Given the description of an element on the screen output the (x, y) to click on. 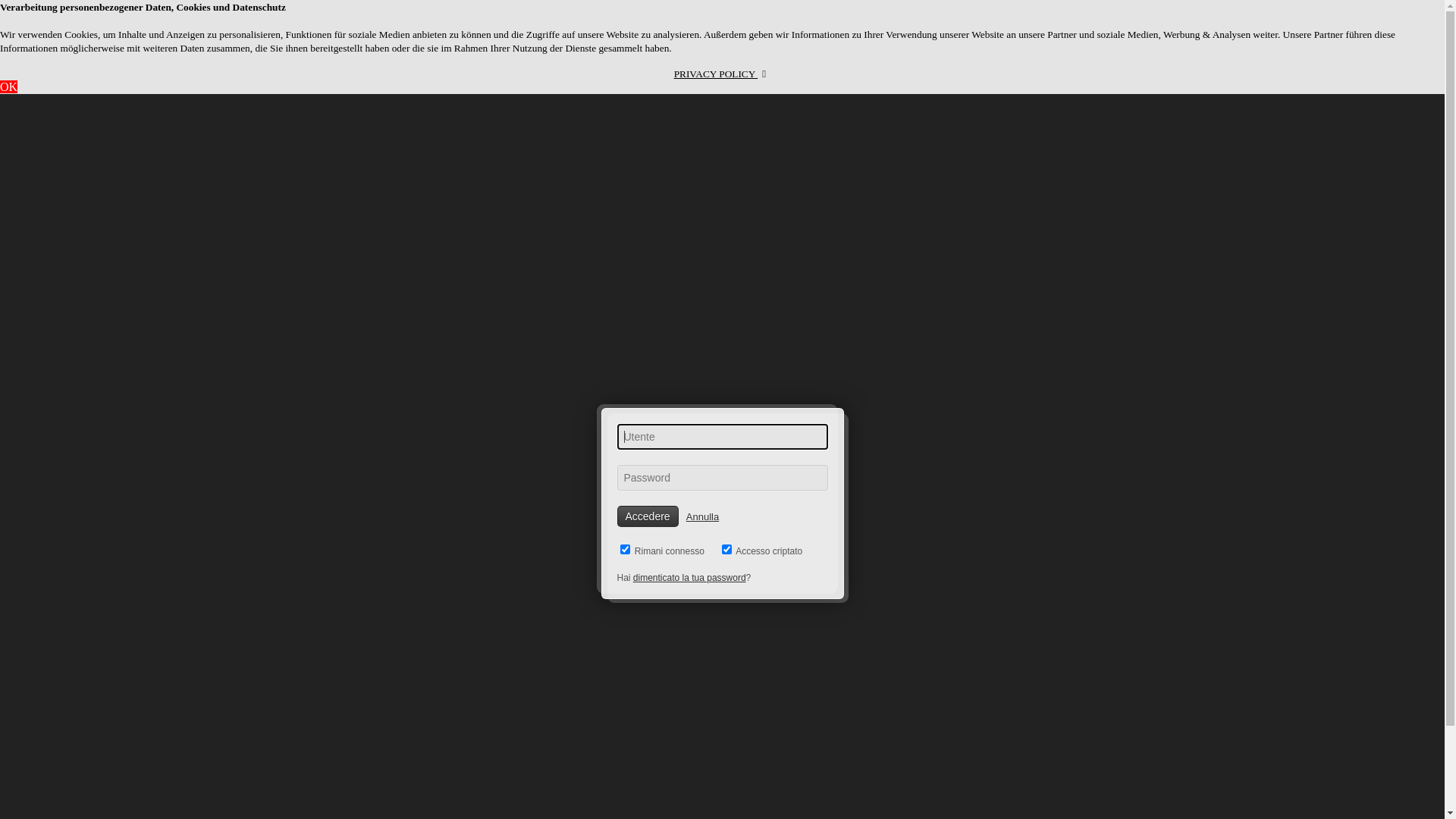
Annulla Element type: text (702, 516)
Accedere Element type: text (647, 516)
OK Element type: text (8, 86)
dimenticato la tua password Element type: text (689, 577)
